Given the description of an element on the screen output the (x, y) to click on. 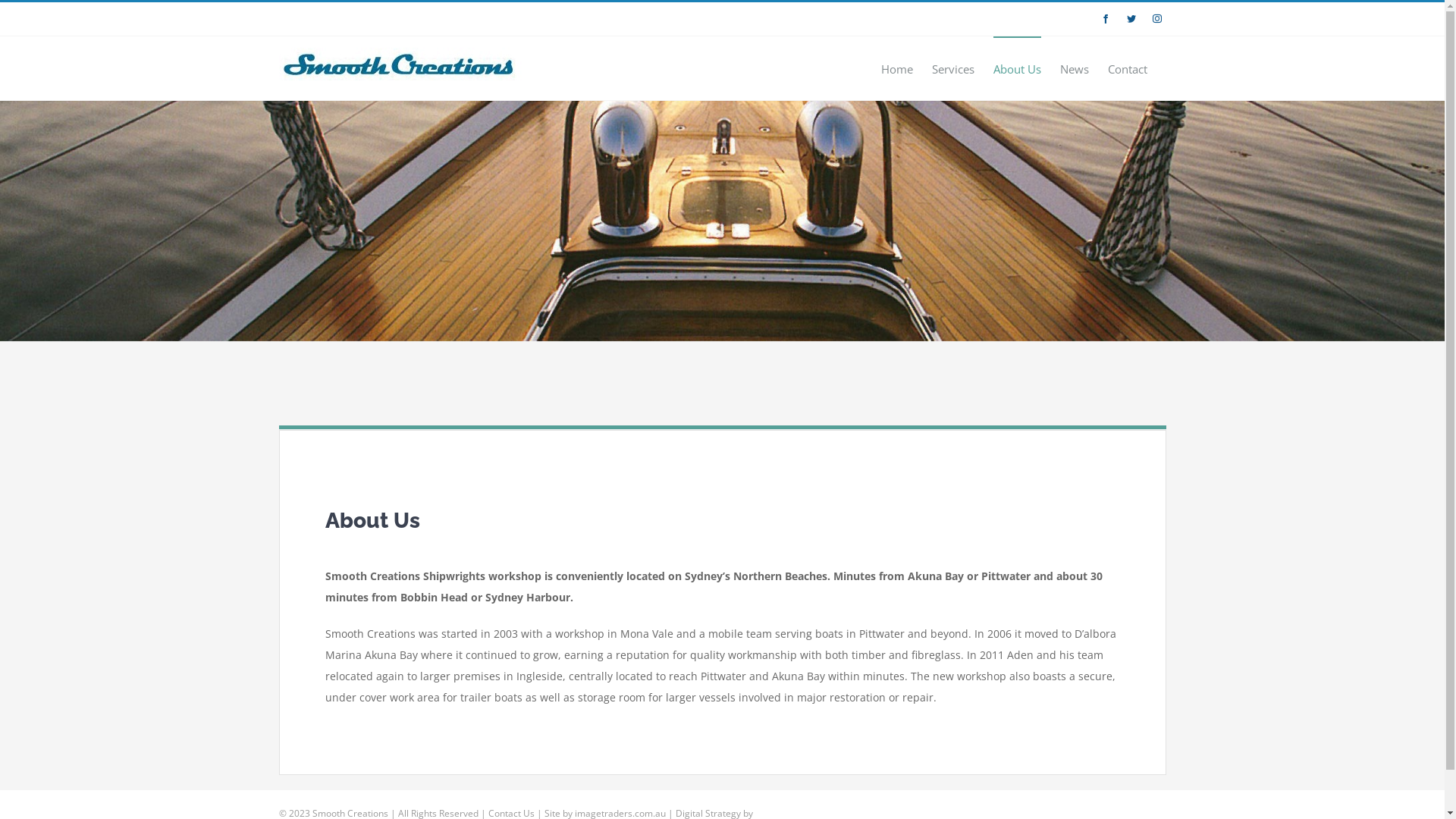
News Element type: text (1074, 68)
About Us Element type: text (1017, 68)
Home Element type: text (897, 68)
Twitter Element type: text (1131, 18)
Facebook Element type: text (1105, 18)
Instagram Element type: text (1157, 18)
Services Element type: text (952, 68)
Contact Element type: text (1126, 68)
